Given the description of an element on the screen output the (x, y) to click on. 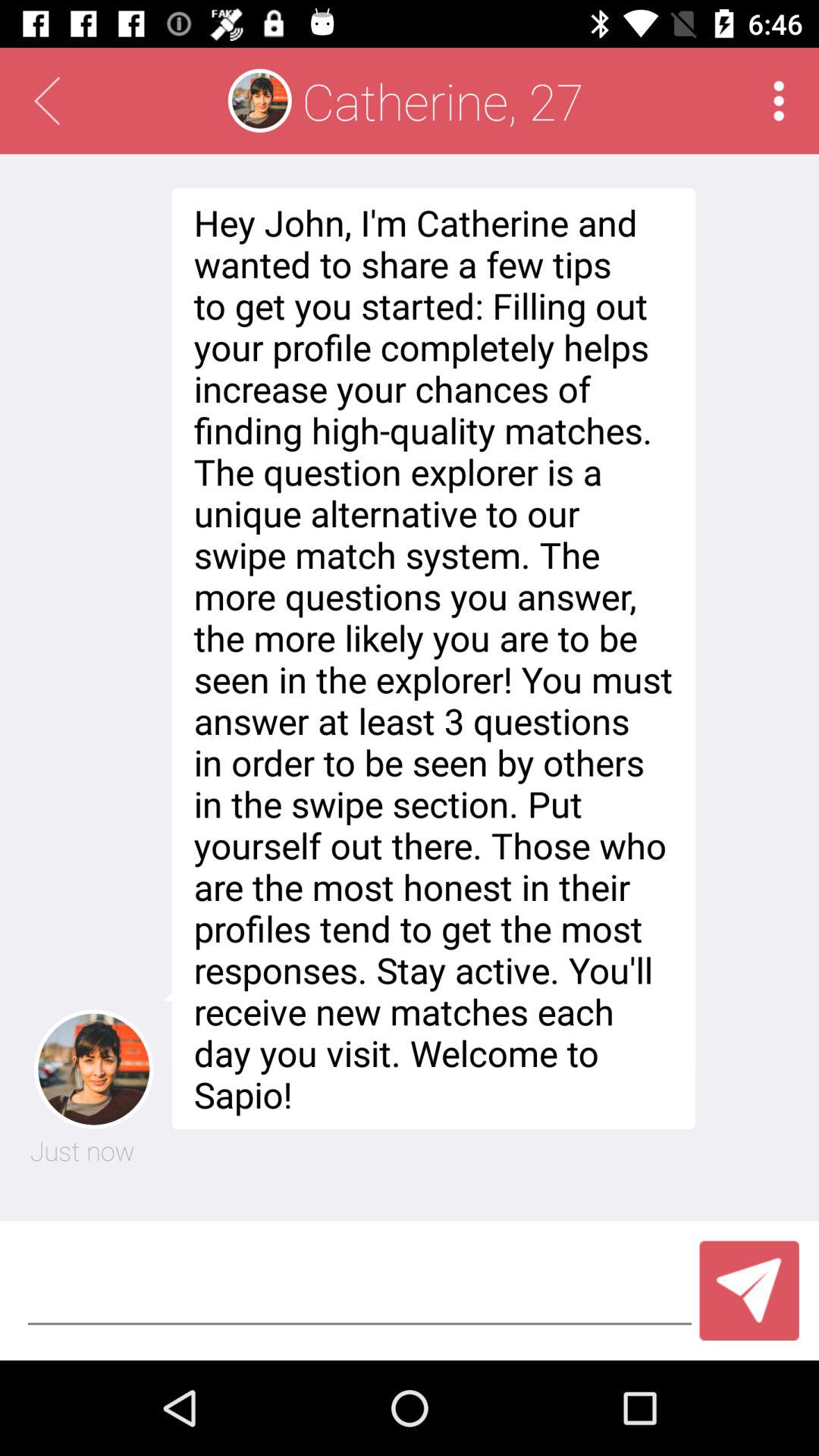
choose the item at the top right corner (778, 100)
